Given the description of an element on the screen output the (x, y) to click on. 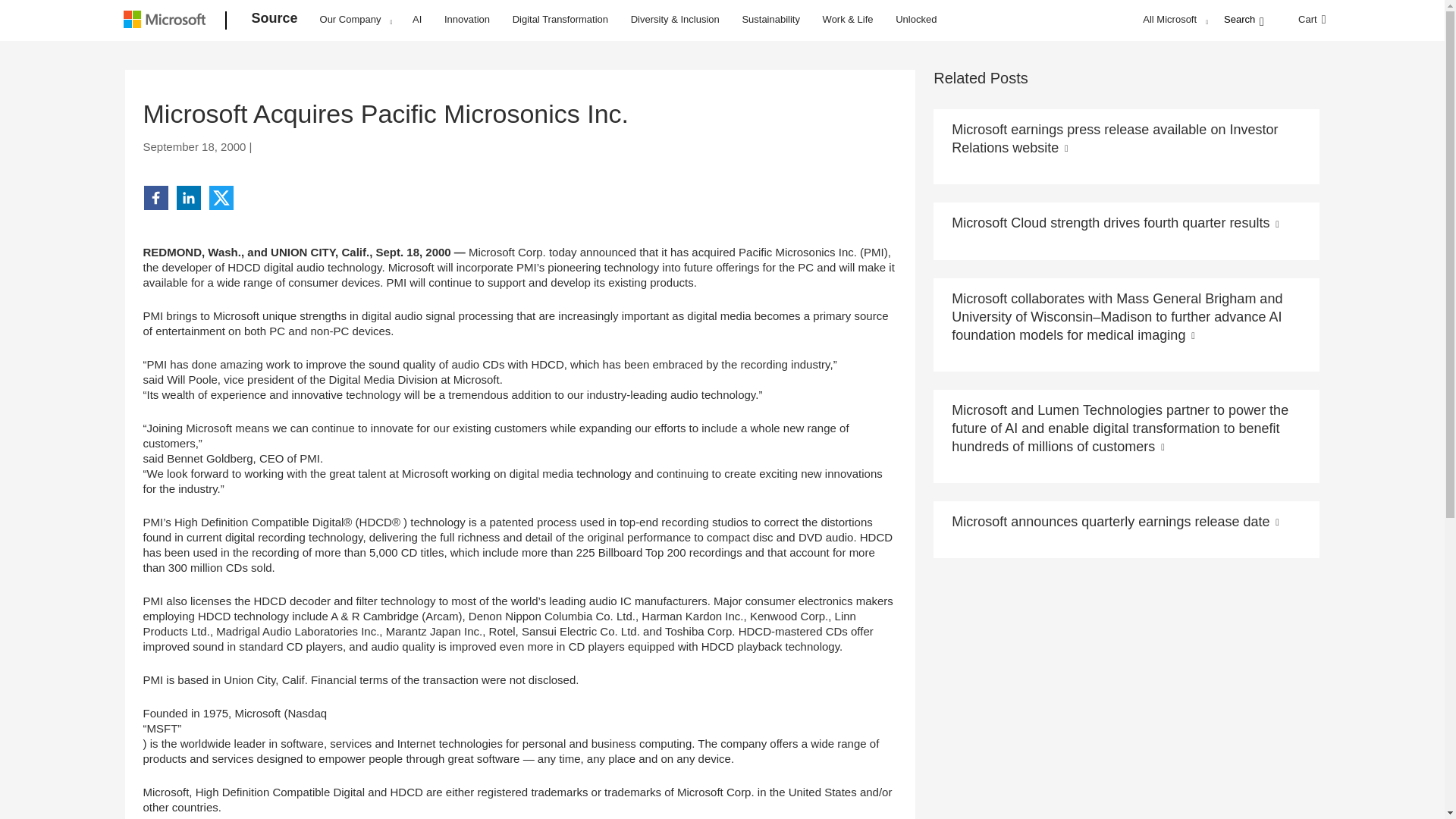
Sustainability (770, 18)
Unlocked (915, 18)
Source (274, 20)
Innovation (467, 18)
Our Company (355, 18)
All Microsoft (1173, 18)
Microsoft (167, 20)
Digital Transformation (559, 18)
